Given the description of an element on the screen output the (x, y) to click on. 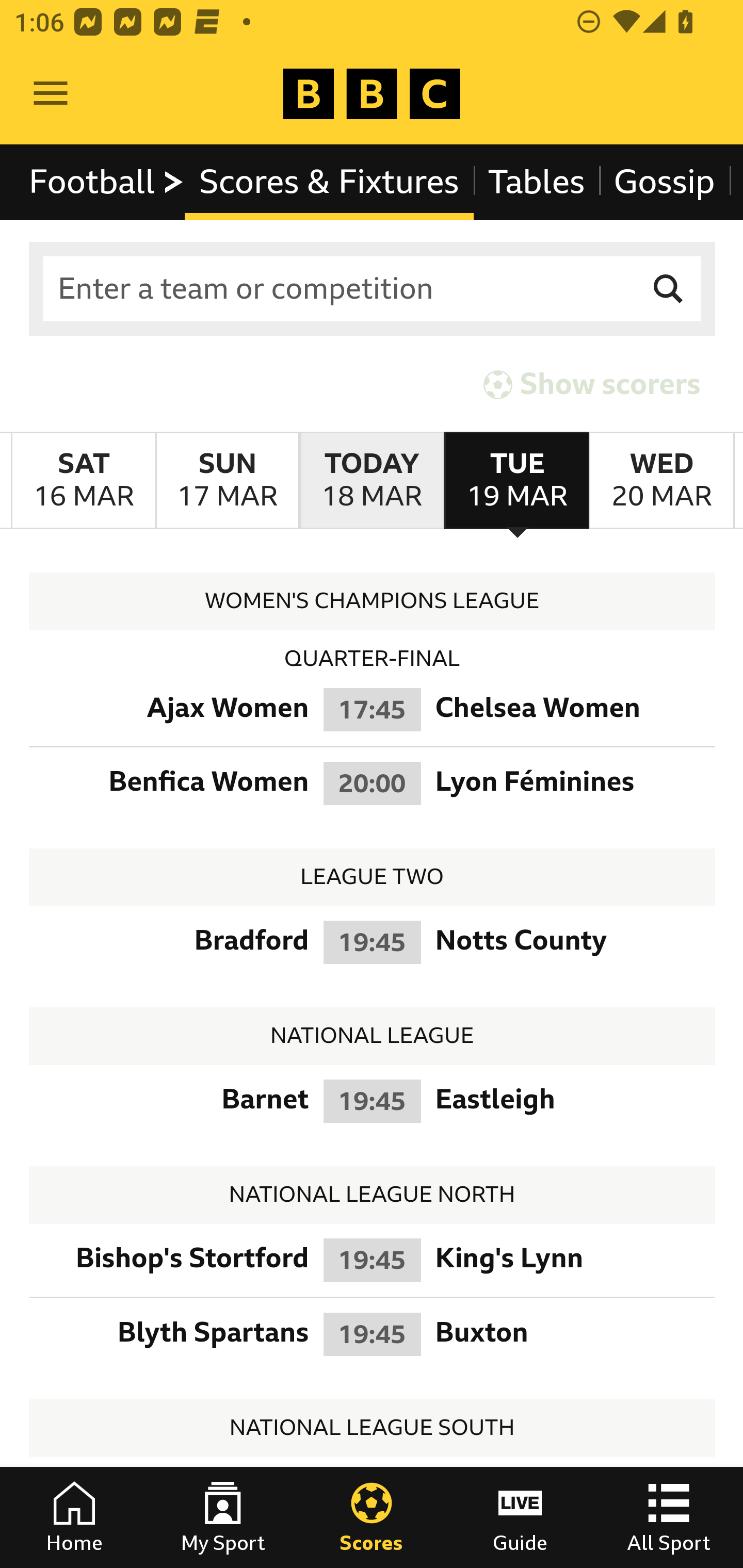
Open Menu (50, 93)
Football  (106, 181)
Scores & Fixtures (329, 181)
Tables (536, 181)
Gossip (664, 181)
Search (669, 289)
Show scorers (591, 383)
SaturdayMarch 16th Saturday March 16th (83, 480)
SundayMarch 17th Sunday March 17th (227, 480)
TodayMarch 18th Today March 18th (371, 480)
WednesdayMarch 20th Wednesday March 20th (661, 480)
Home (74, 1517)
My Sport (222, 1517)
Guide (519, 1517)
All Sport (668, 1517)
